Given the description of an element on the screen output the (x, y) to click on. 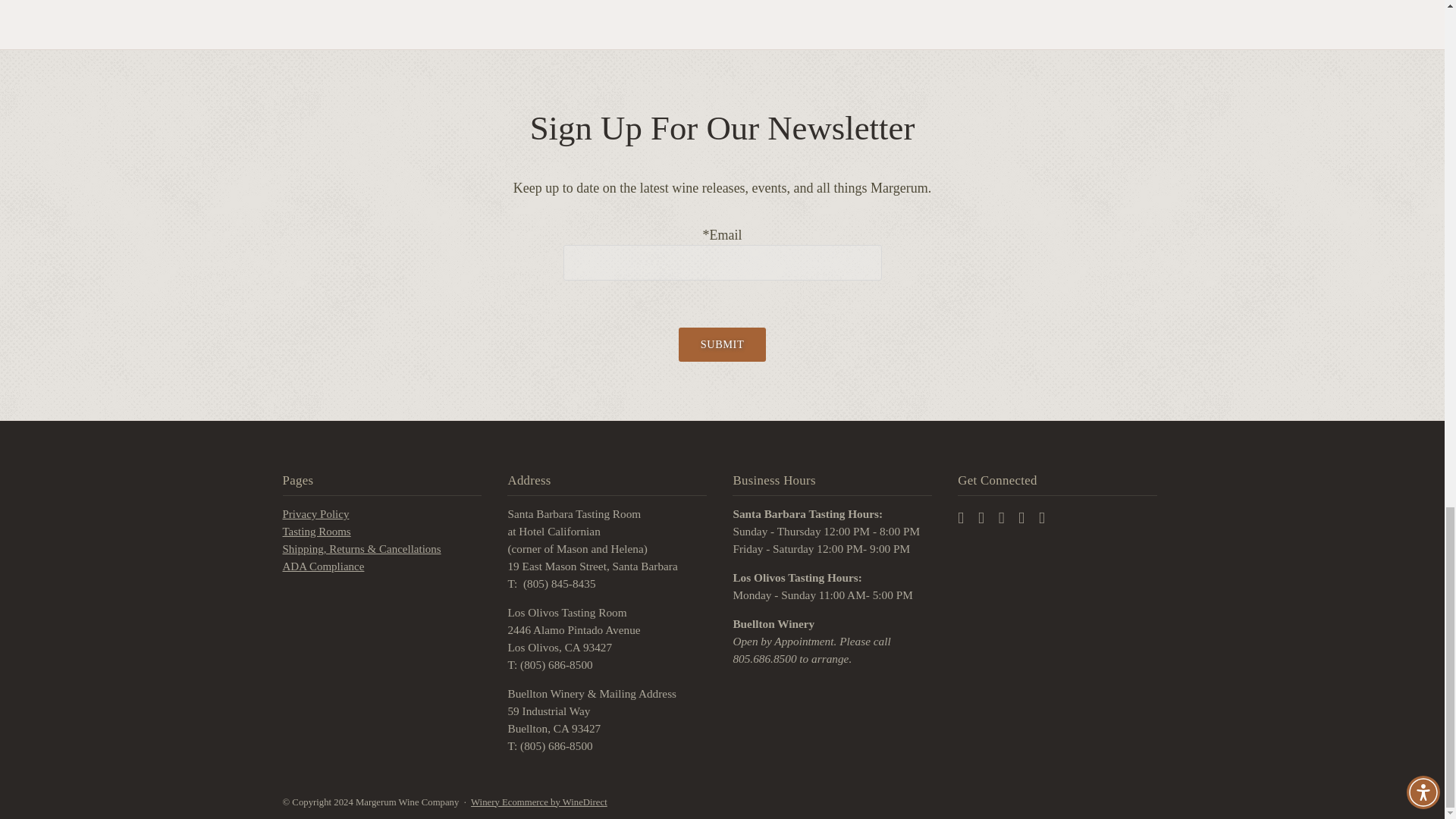
Privacy Policy (315, 514)
SUBMIT (721, 344)
